Given the description of an element on the screen output the (x, y) to click on. 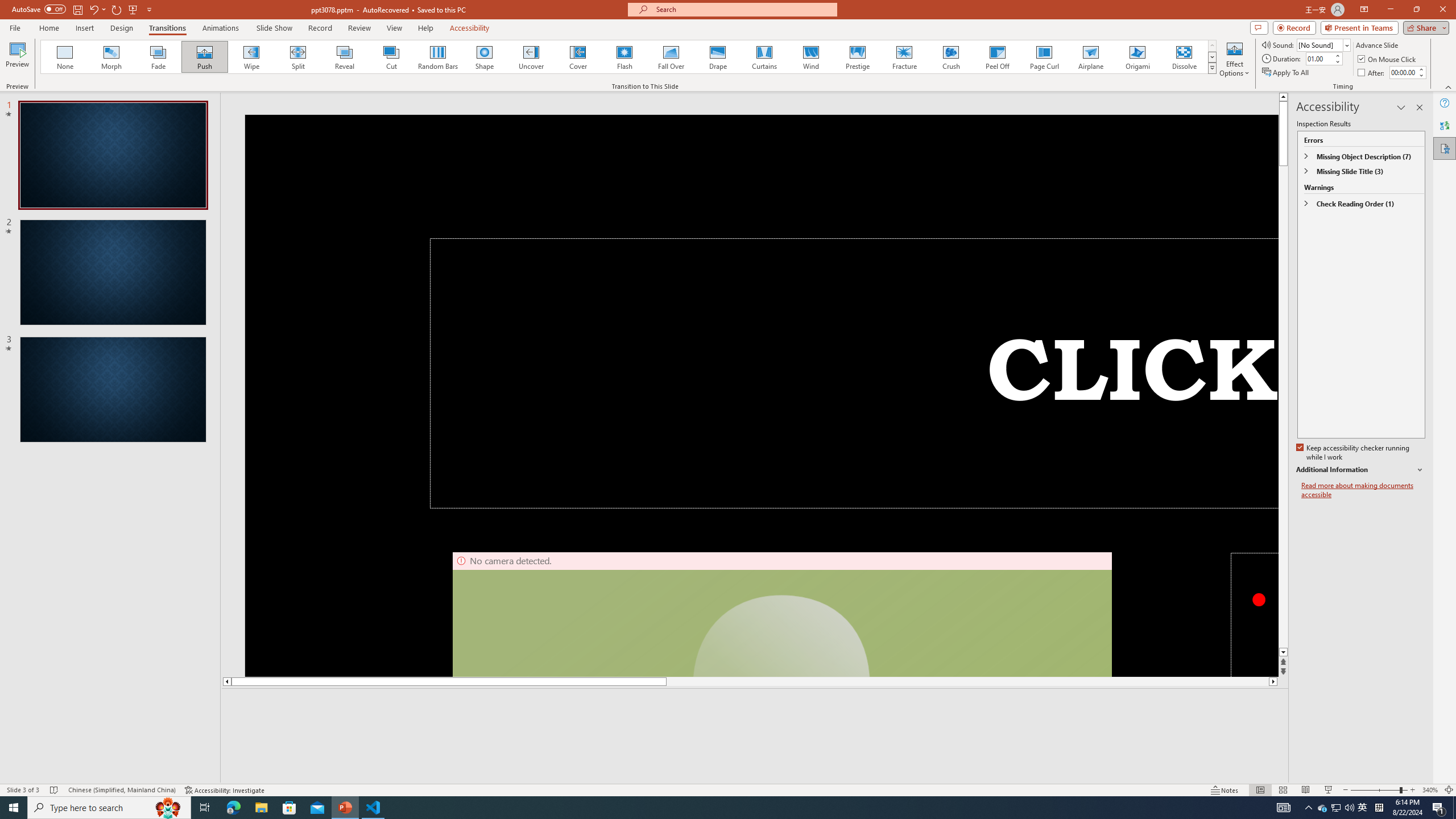
Spell Check No Errors (54, 790)
Push (205, 56)
Prestige (857, 56)
Split (298, 56)
Class: NetUIImage (1211, 68)
Additional Information (1360, 469)
Slide (112, 389)
Flash (624, 56)
Fall Over (670, 56)
Line down (1283, 652)
Read more about making documents accessible (1363, 489)
